Given the description of an element on the screen output the (x, y) to click on. 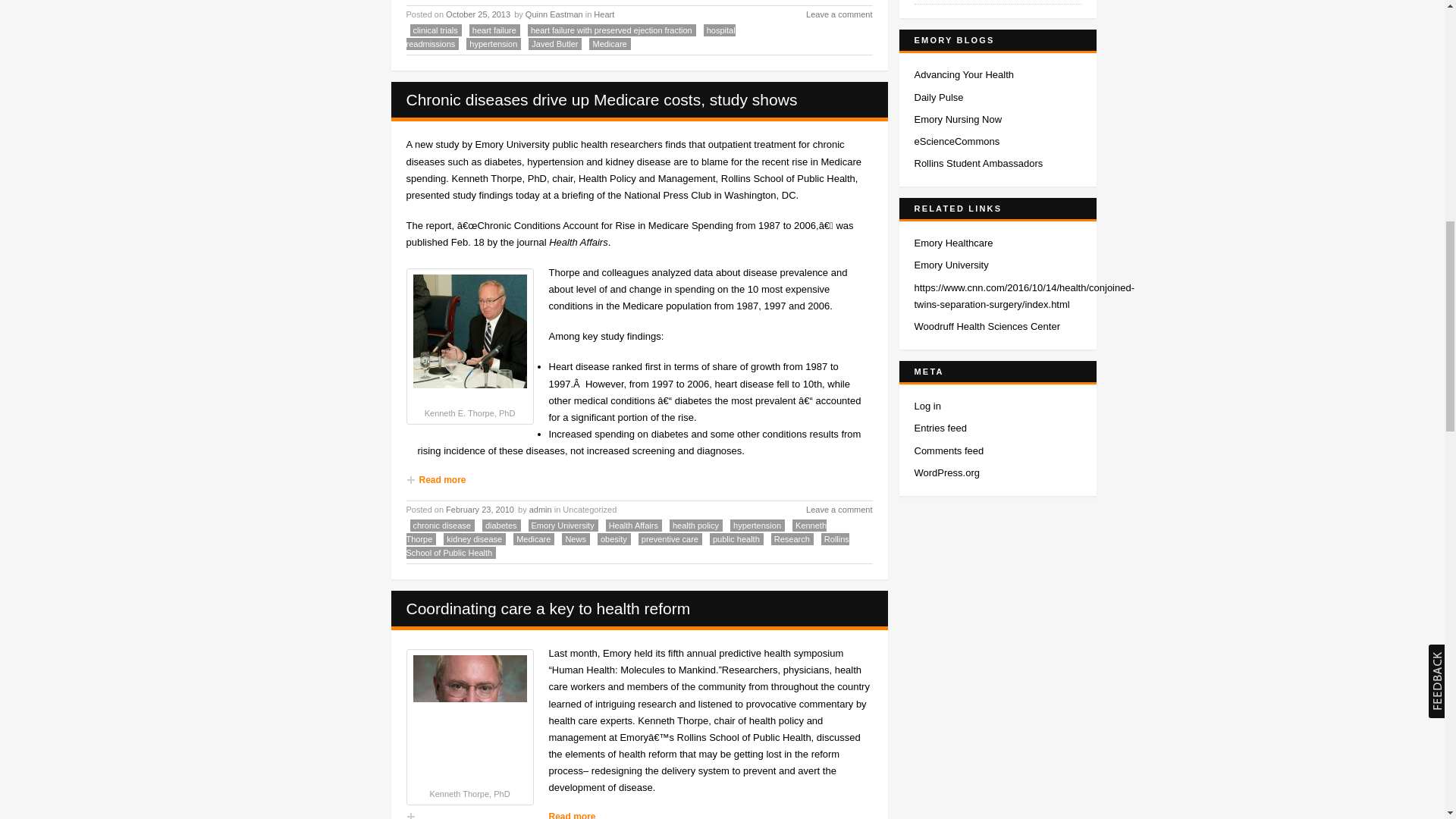
3:09 pm (478, 13)
Read Coordinating care a key to health reform (548, 608)
heart failure (493, 30)
View all posts by admin (540, 509)
Chronic diseases drive up Medicare costs, study shows (601, 99)
Leave a comment (830, 15)
hypertension (493, 43)
Read Chronic diseases drive up Medicare costs, study shows (601, 99)
Quinn Eastman (554, 13)
1:07 pm (480, 509)
